Given the description of an element on the screen output the (x, y) to click on. 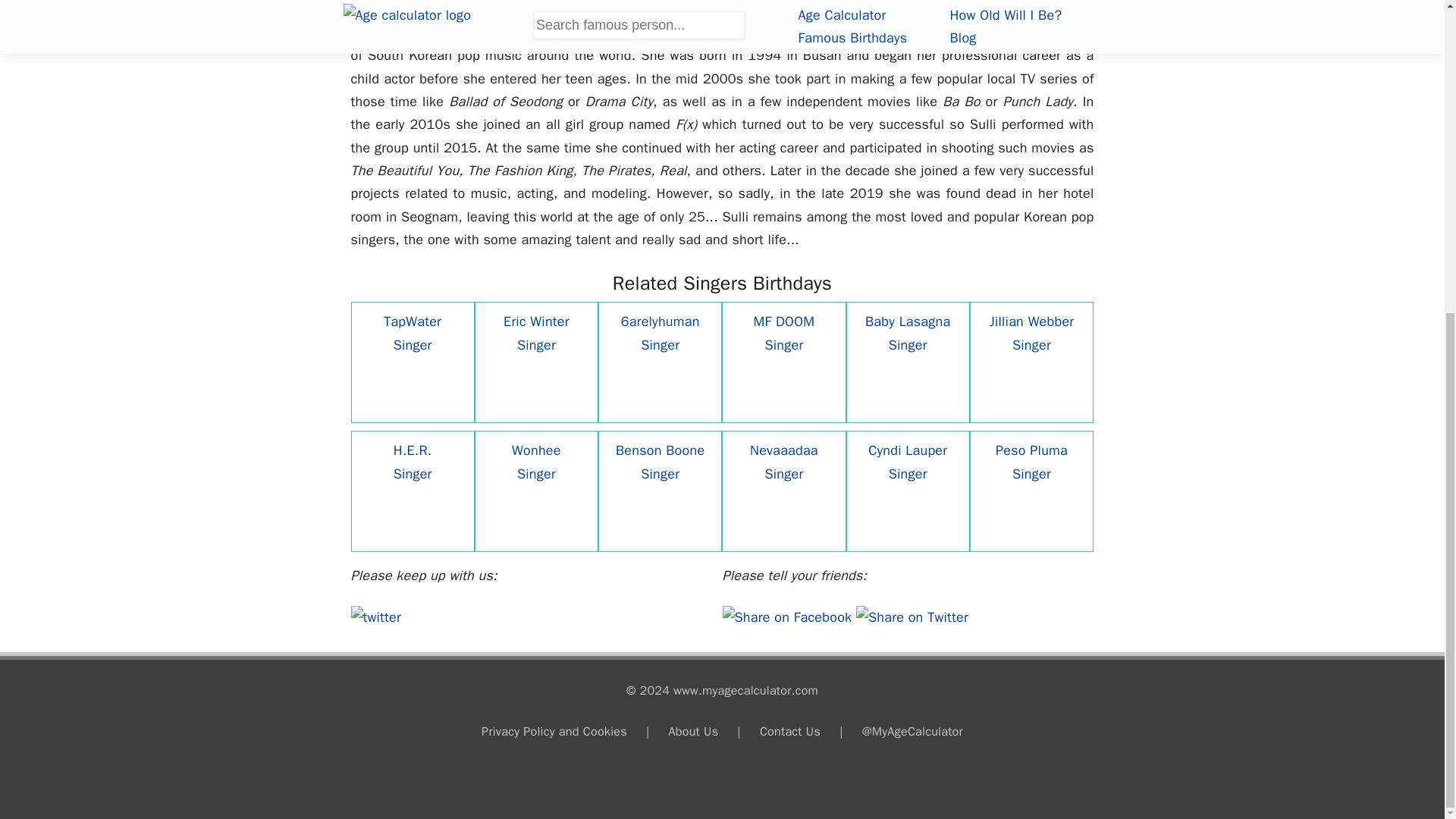
Contact Us (790, 731)
Privacy Policy and Cookies (554, 731)
About Us (692, 731)
My Age Calculator Twitter (375, 616)
